Given the description of an element on the screen output the (x, y) to click on. 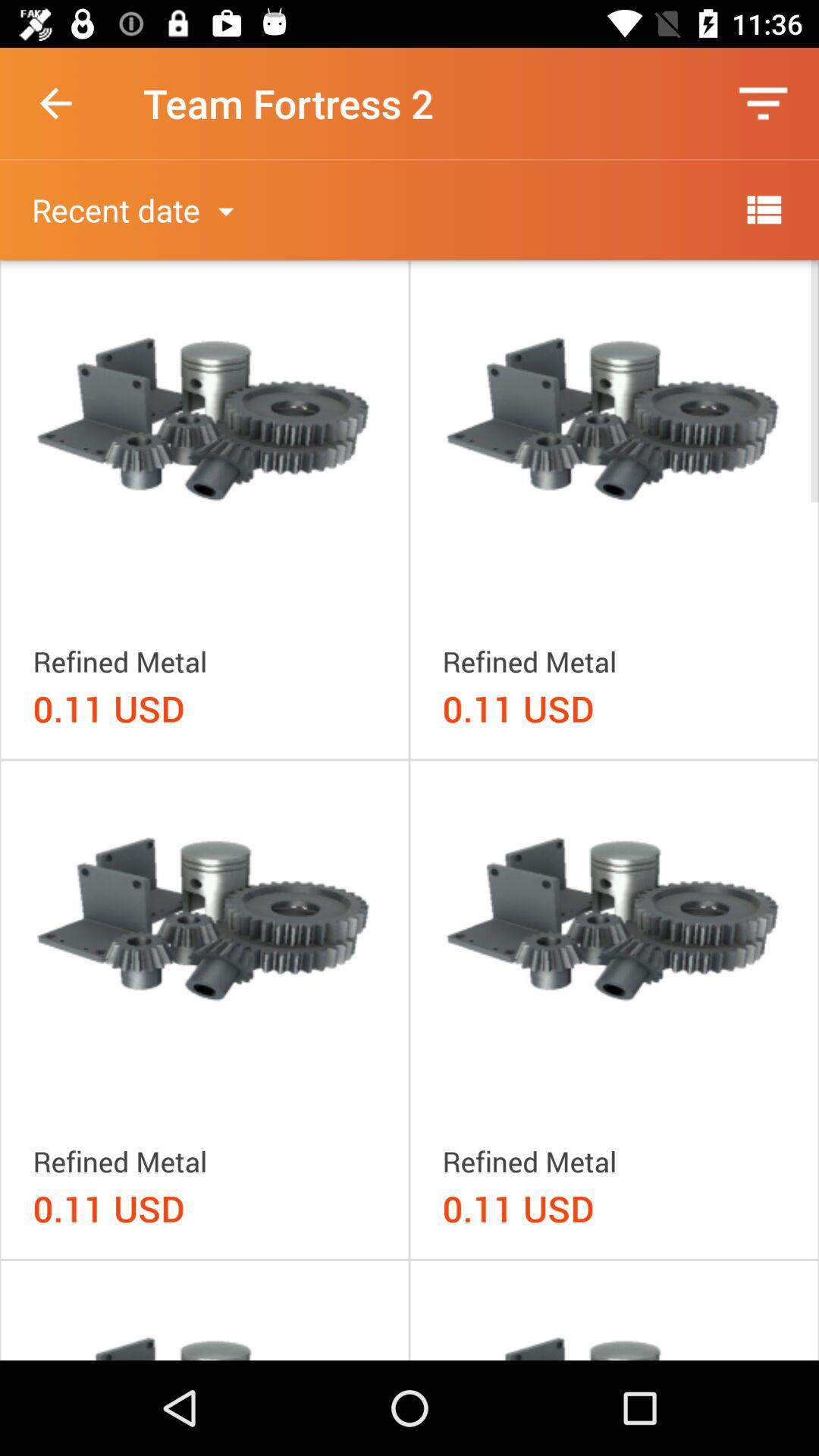
tap item to the right of the recent date (763, 209)
